Given the description of an element on the screen output the (x, y) to click on. 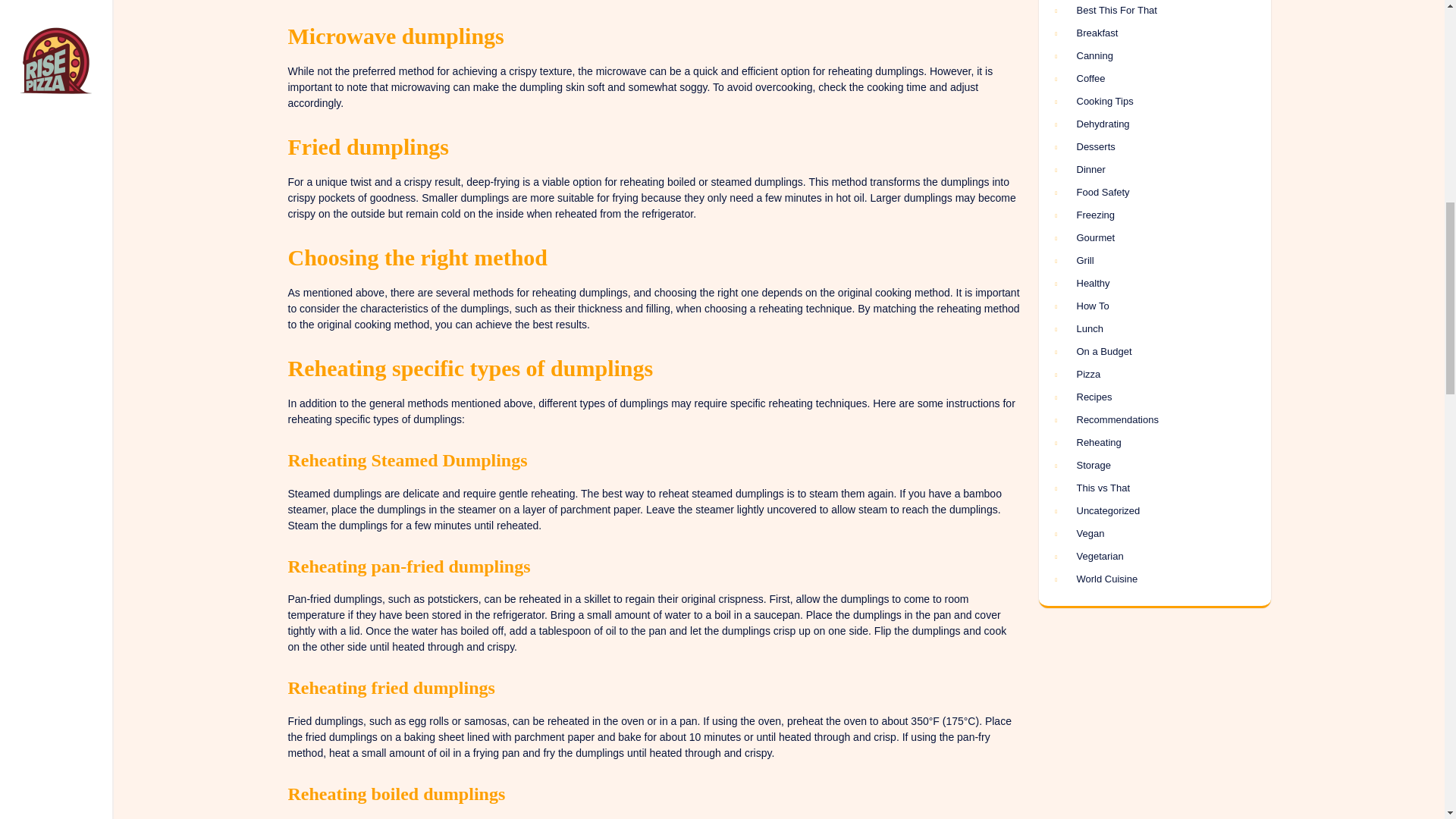
Breakfast (1151, 32)
Dehydrating (1151, 124)
Cooking Tips (1151, 101)
Canning (1151, 55)
Best This For That (1151, 10)
Coffee (1151, 78)
Desserts (1151, 146)
